Given the description of an element on the screen output the (x, y) to click on. 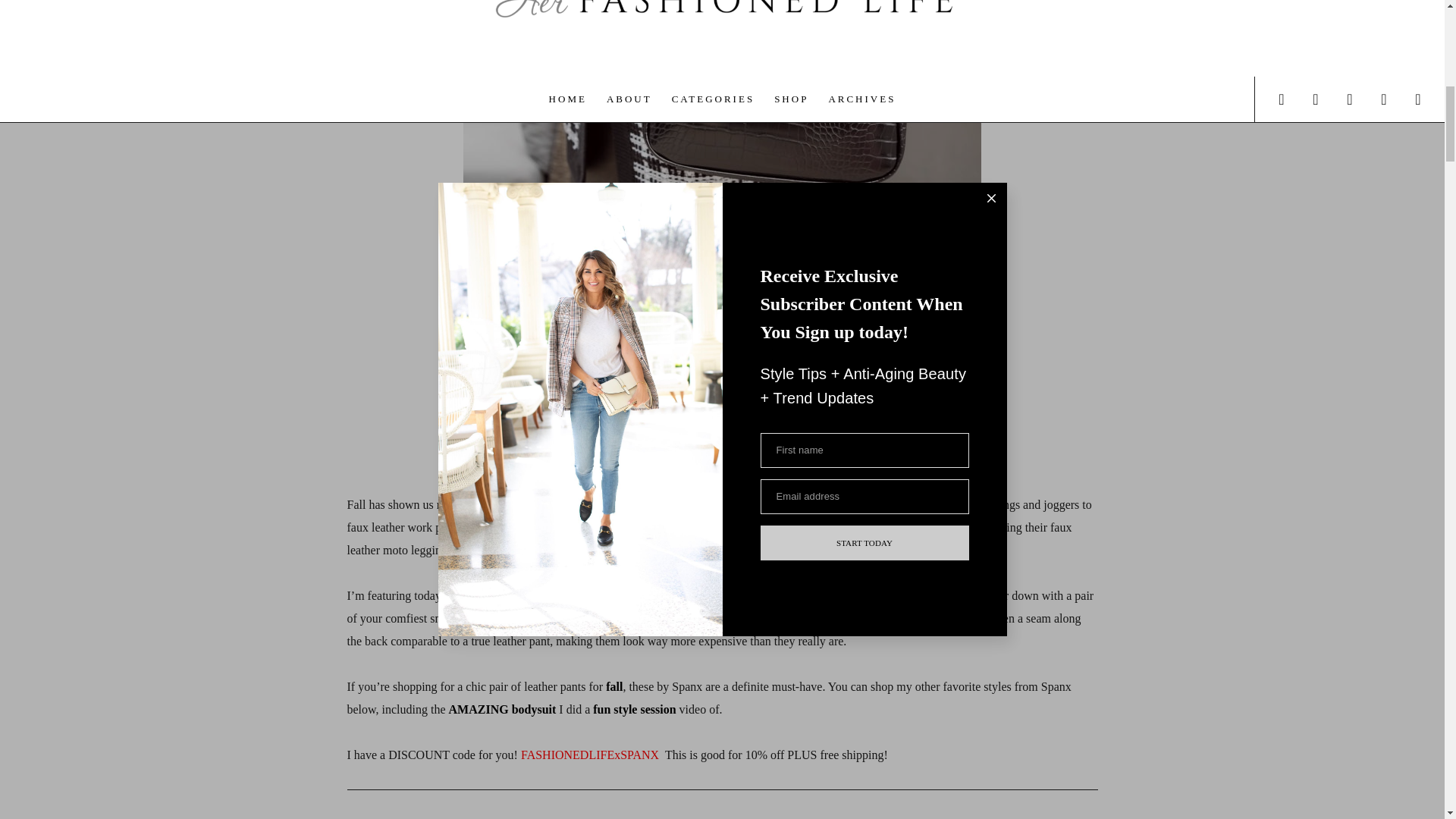
Spanx (727, 526)
fall (612, 686)
AMAZING bodysuit (502, 708)
ankle skinny pants (545, 594)
faux (782, 504)
Faux Leather Pants (503, 422)
Bead Bracelets (864, 422)
Cardigan (650, 422)
Bag (742, 422)
